Given the description of an element on the screen output the (x, y) to click on. 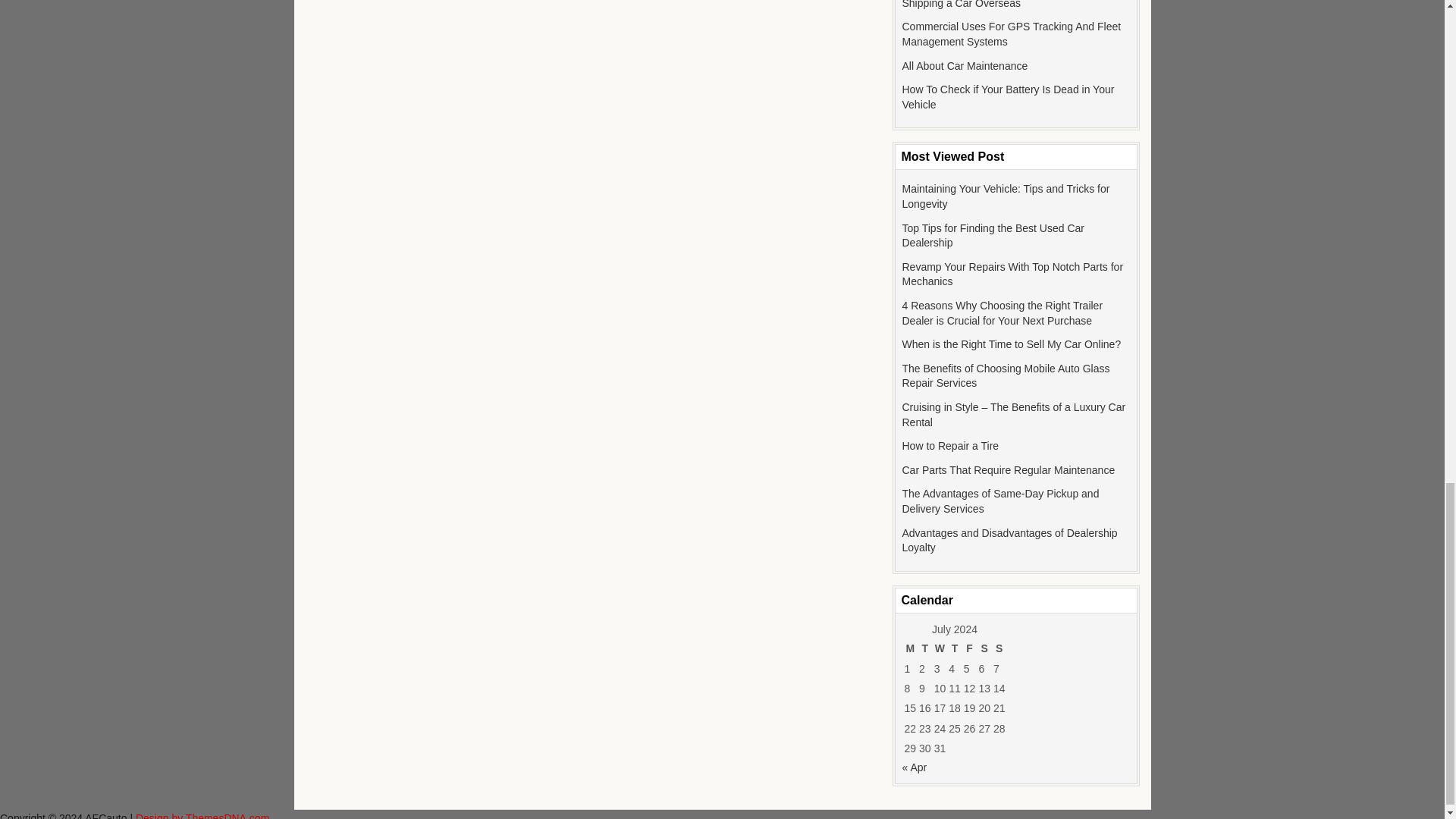
Saturday (983, 648)
Sunday (999, 648)
Wednesday (940, 648)
Monday (910, 648)
Tuesday (924, 648)
Friday (969, 648)
Thursday (953, 648)
